Given the description of an element on the screen output the (x, y) to click on. 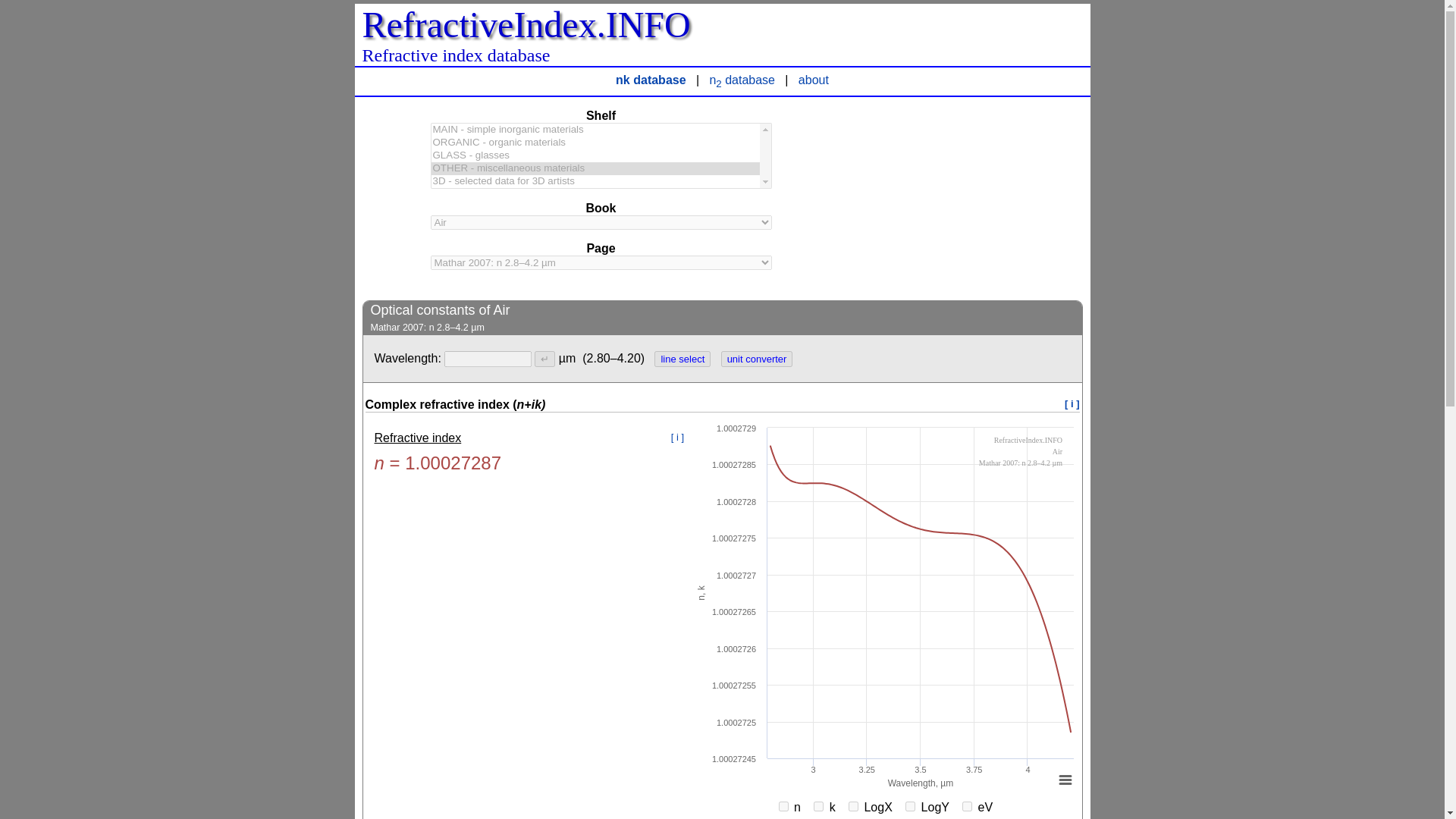
RefractiveIndex.INFO (526, 24)
Read about refractive index in Wikipedia (677, 437)
nk database (650, 79)
line select (681, 358)
Select a spectral line or laser wavelength (681, 358)
